Given the description of an element on the screen output the (x, y) to click on. 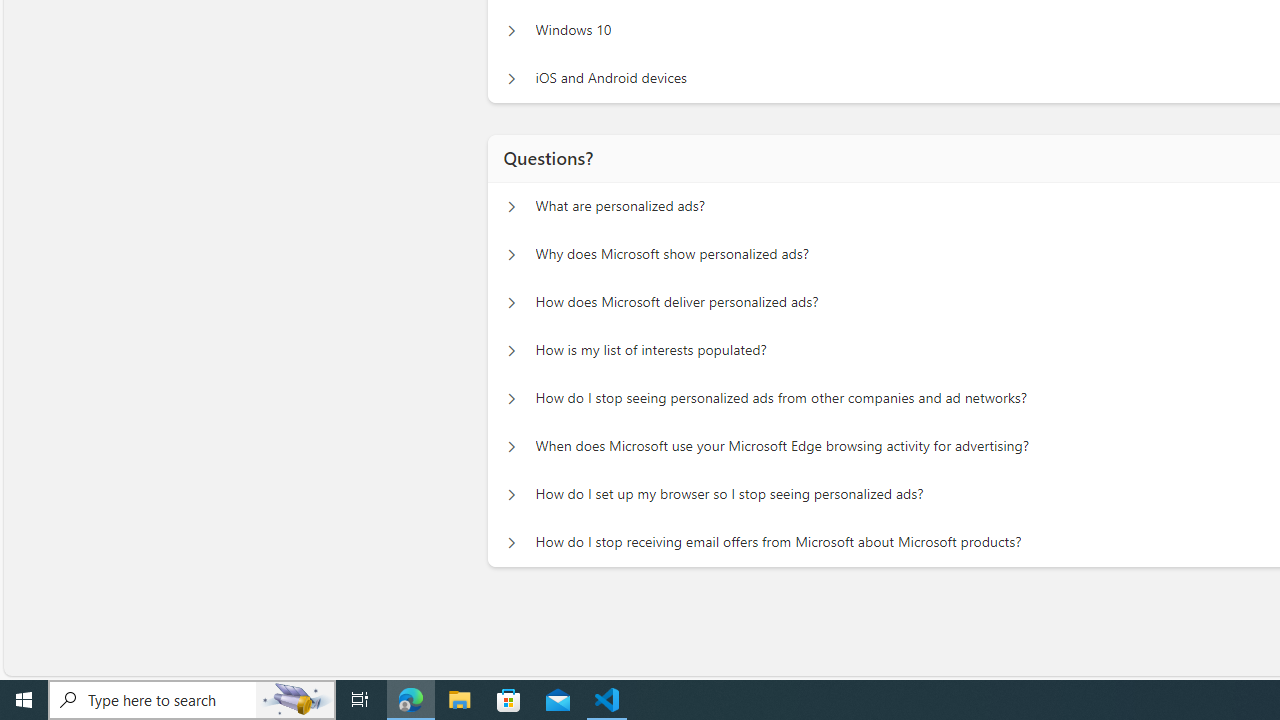
Questions? Why does Microsoft show personalized ads? (511, 255)
Questions? How does Microsoft deliver personalized ads? (511, 302)
Questions? How is my list of interests populated? (511, 350)
Questions? What are personalized ads? (511, 206)
Manage personalized ads on your device Windows 10 (511, 30)
